Given the description of an element on the screen output the (x, y) to click on. 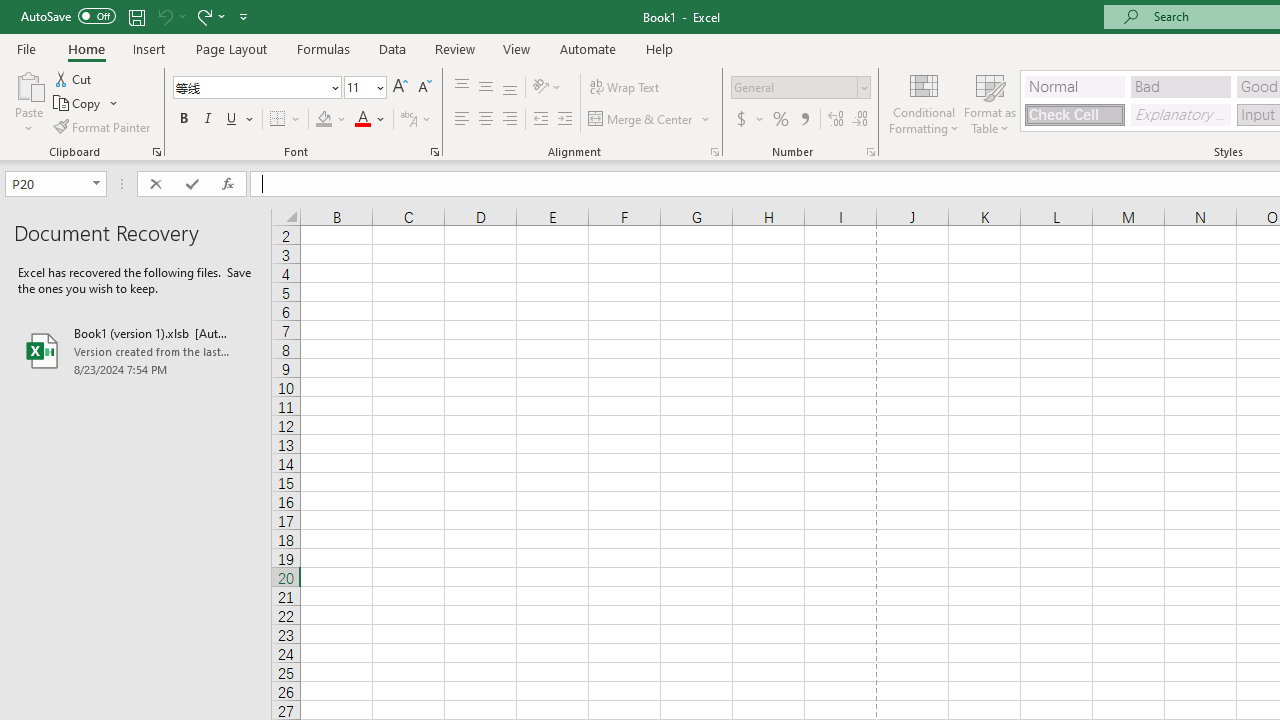
Format Painter (103, 126)
Merge & Center (649, 119)
Increase Indent (565, 119)
Format Cell Number (870, 151)
Office Clipboard... (156, 151)
Font Color RGB(255, 0, 0) (362, 119)
Align Left (461, 119)
Paste (28, 84)
Paste (28, 102)
